Given the description of an element on the screen output the (x, y) to click on. 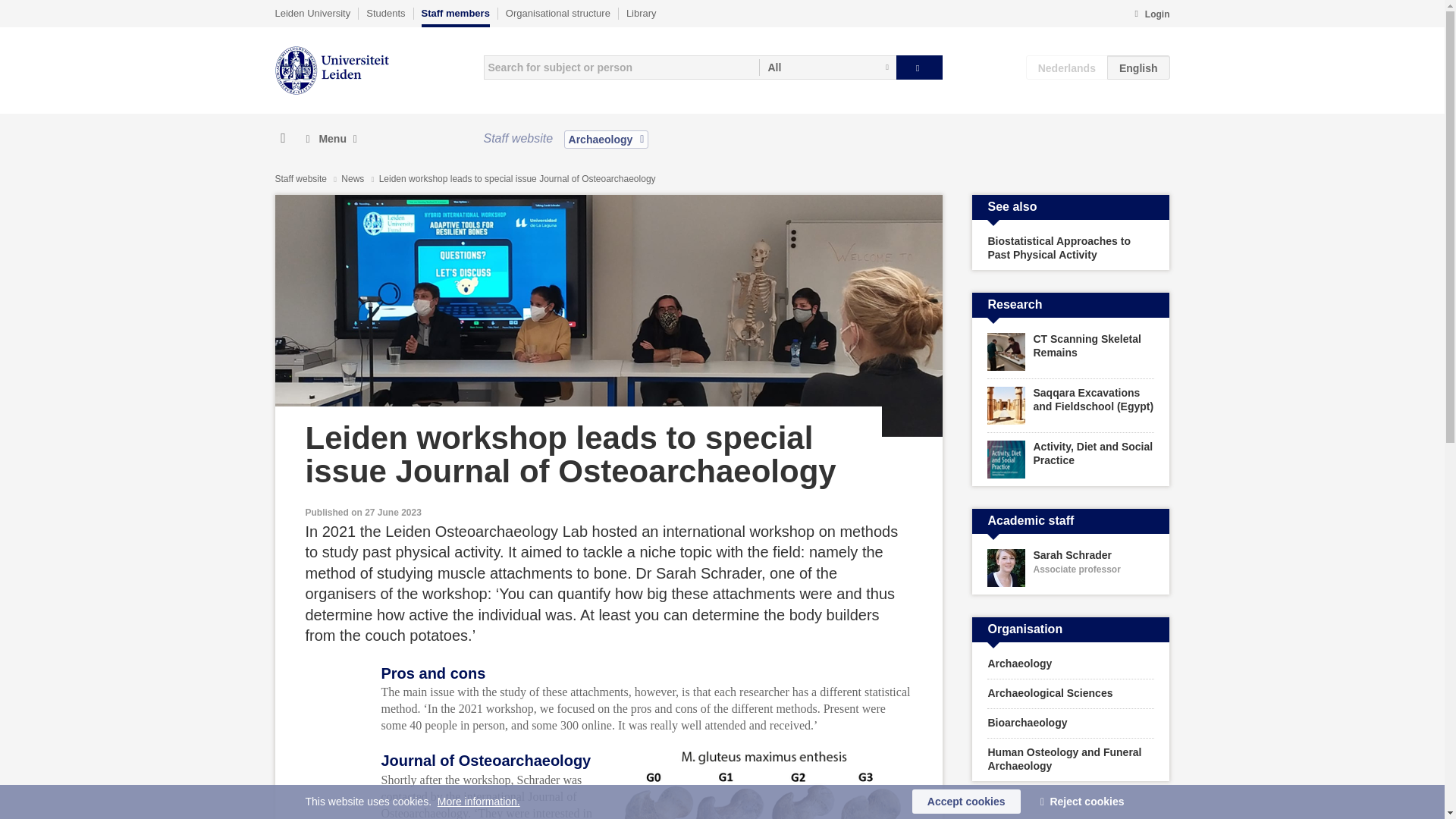
Students (385, 13)
Archaeology (606, 139)
Search (919, 67)
Organisational structure (557, 13)
Login (1151, 14)
All (827, 67)
Leiden University (312, 13)
Menu (330, 139)
Staff members (455, 17)
Library (641, 13)
